Given the description of an element on the screen output the (x, y) to click on. 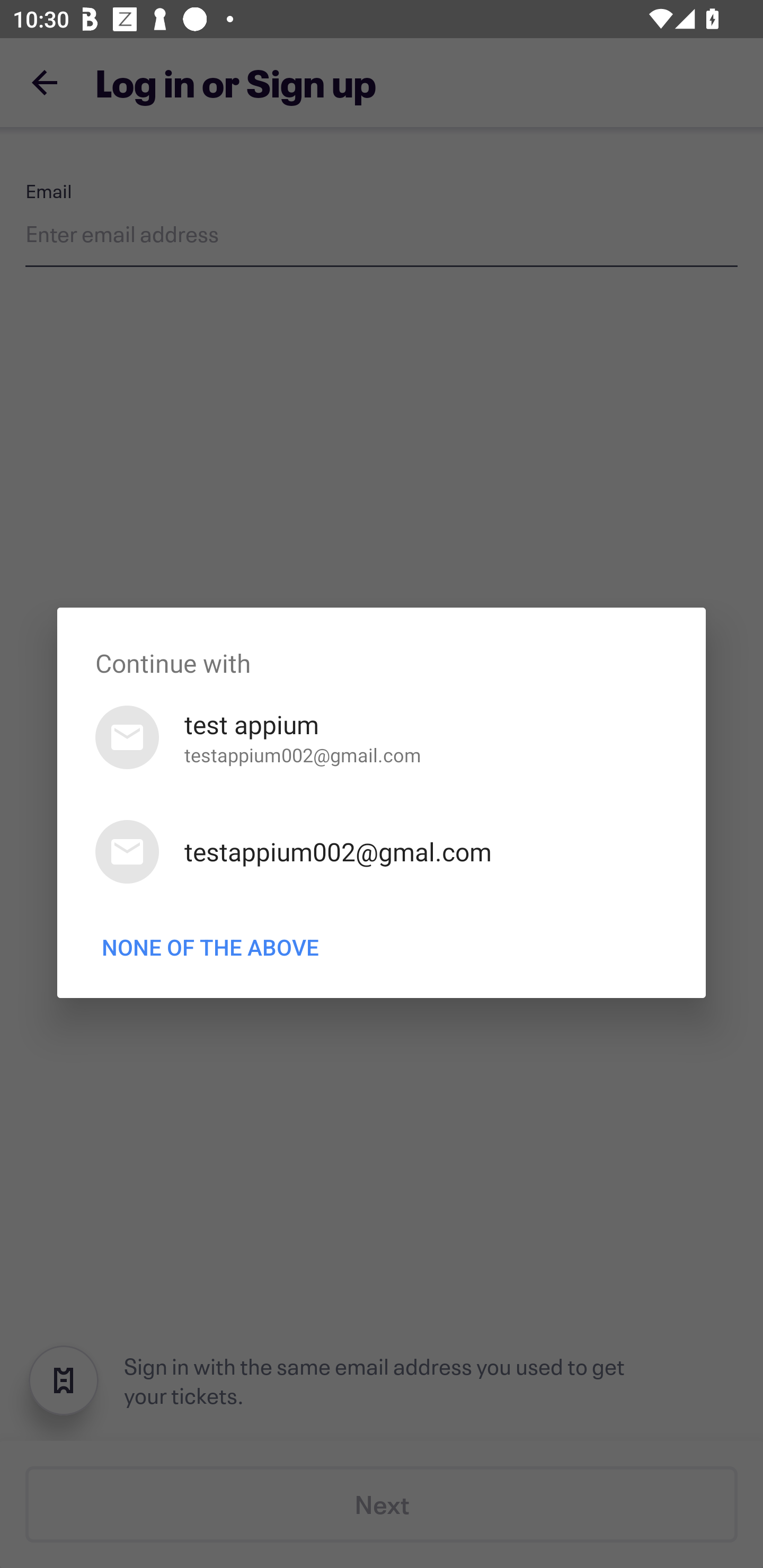
test appium test appium testappium002@gmail.com (381, 737)
testappium002@gmal.com (381, 851)
NONE OF THE ABOVE (210, 946)
